Given the description of an element on the screen output the (x, y) to click on. 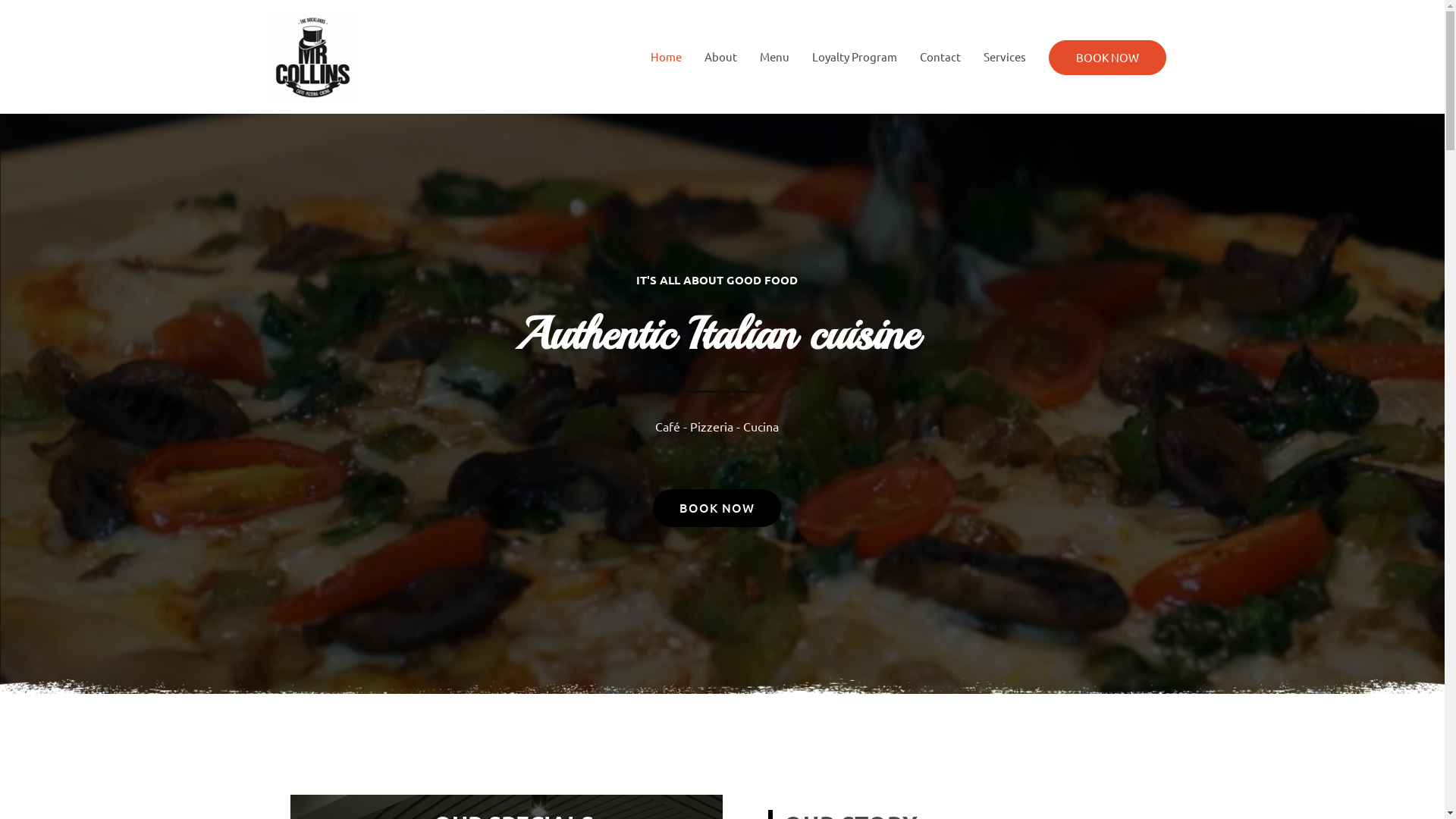
BOOK NOW Element type: text (1106, 57)
Services Element type: text (1004, 56)
Menu Element type: text (773, 56)
Contact Element type: text (940, 56)
Home Element type: text (665, 56)
BOOK NOW Element type: text (1106, 57)
Loyalty Program Element type: text (854, 56)
BOOK NOW Element type: text (716, 508)
About Element type: text (720, 56)
